Given the description of an element on the screen output the (x, y) to click on. 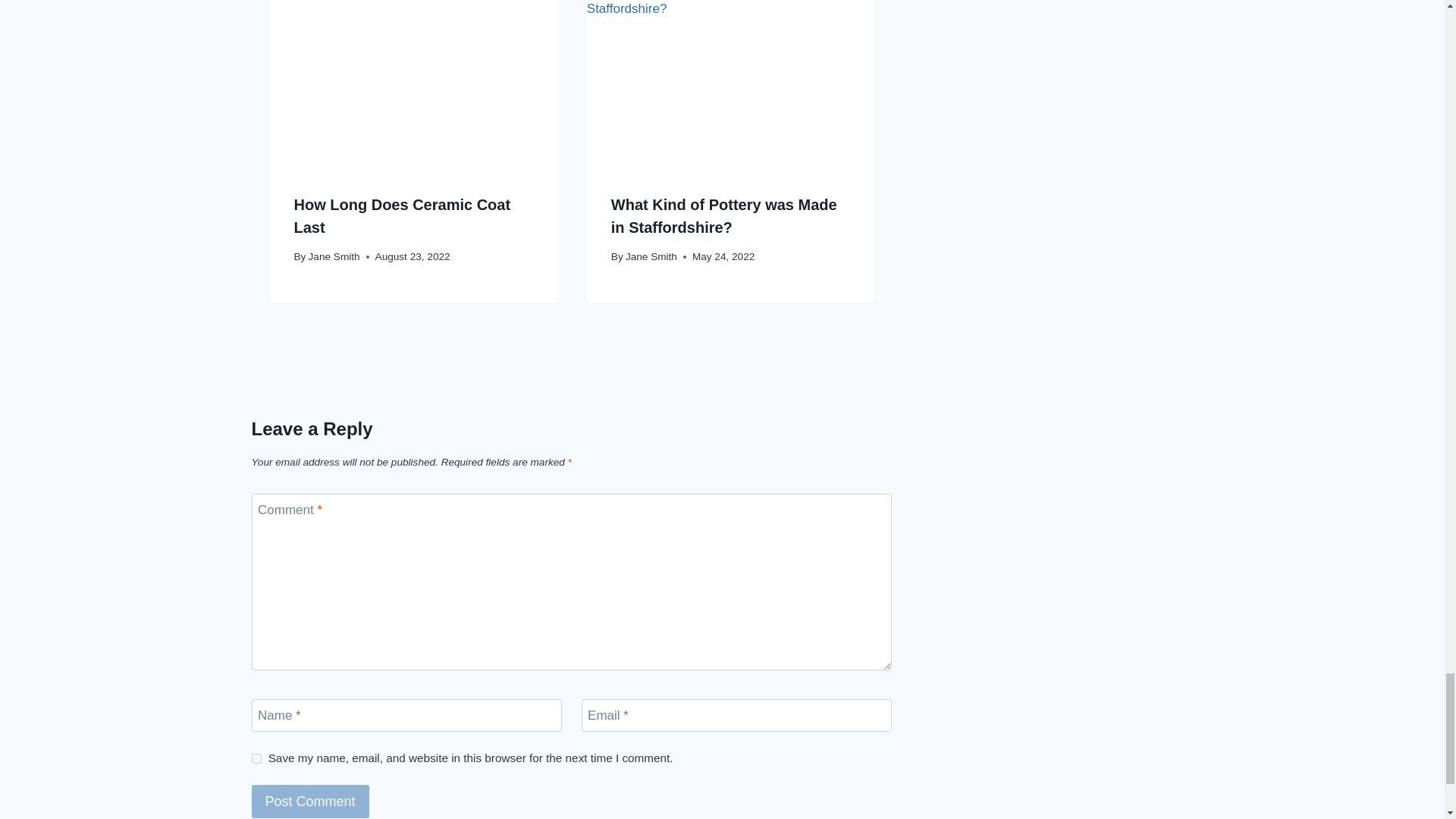
How Long Does Ceramic Coat Last (402, 215)
Post Comment (310, 800)
yes (256, 758)
